Given the description of an element on the screen output the (x, y) to click on. 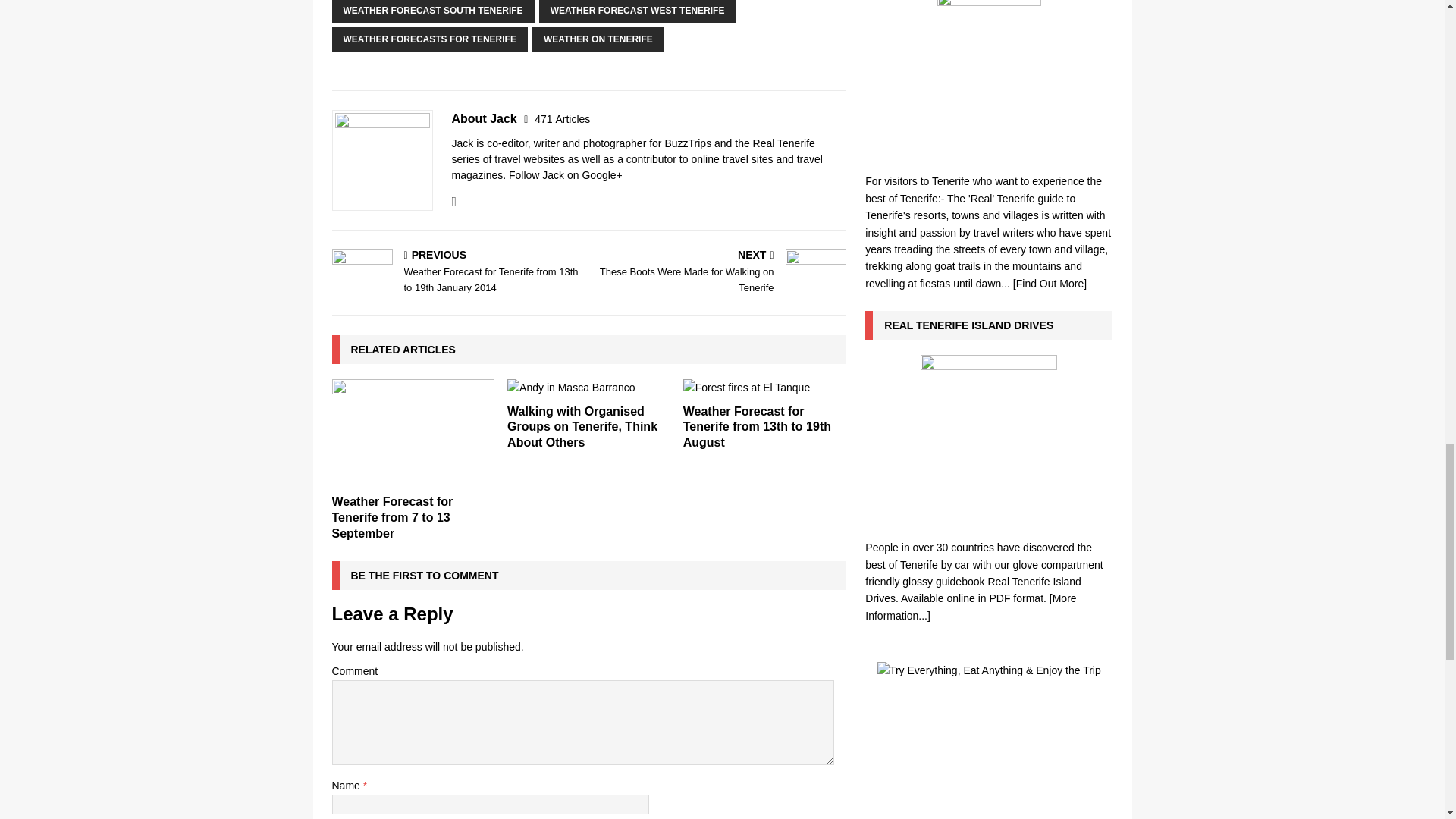
More articles written by Jack' (561, 119)
